Given the description of an element on the screen output the (x, y) to click on. 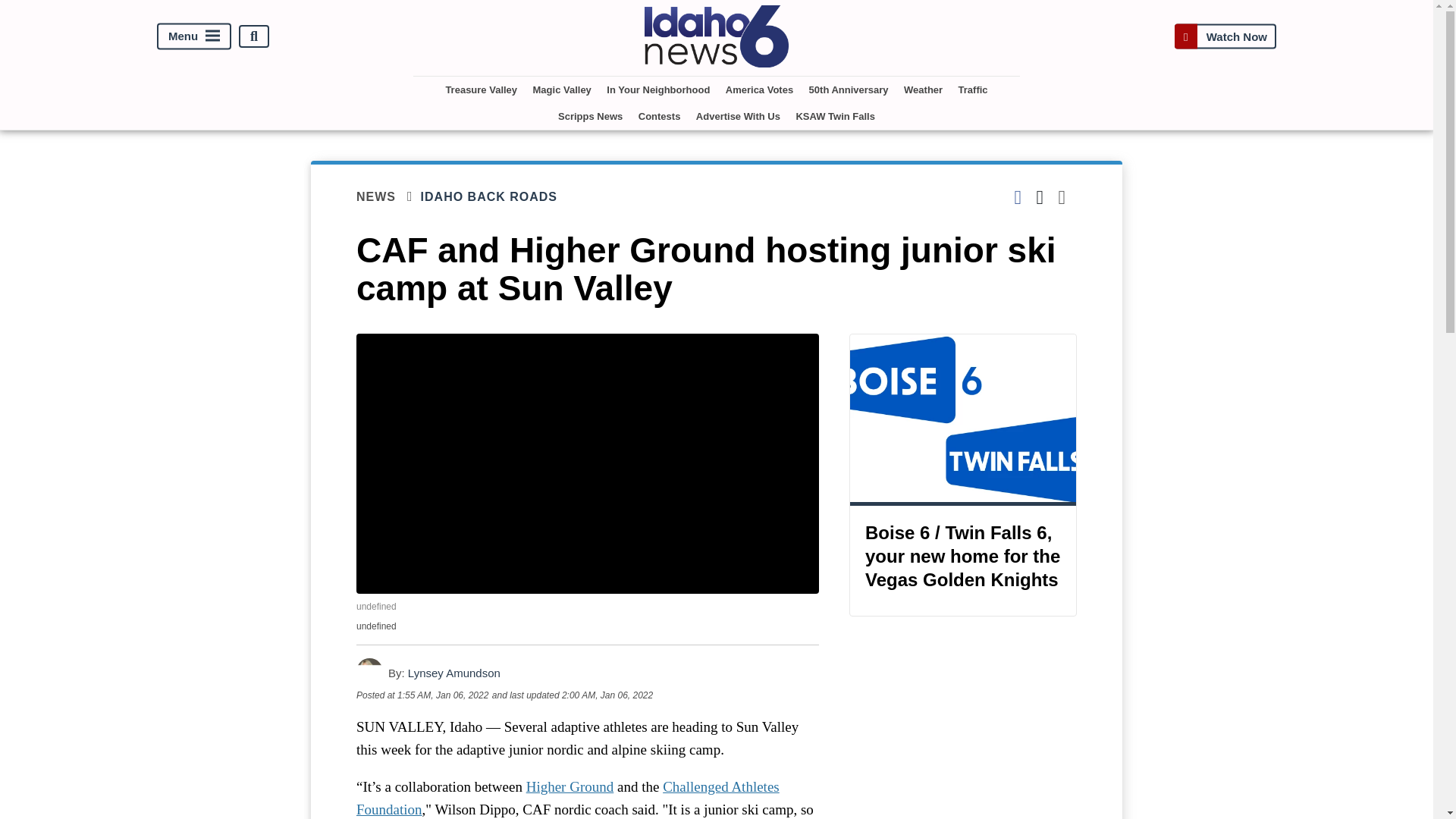
Watch Now (1224, 36)
Menu (194, 36)
